Given the description of an element on the screen output the (x, y) to click on. 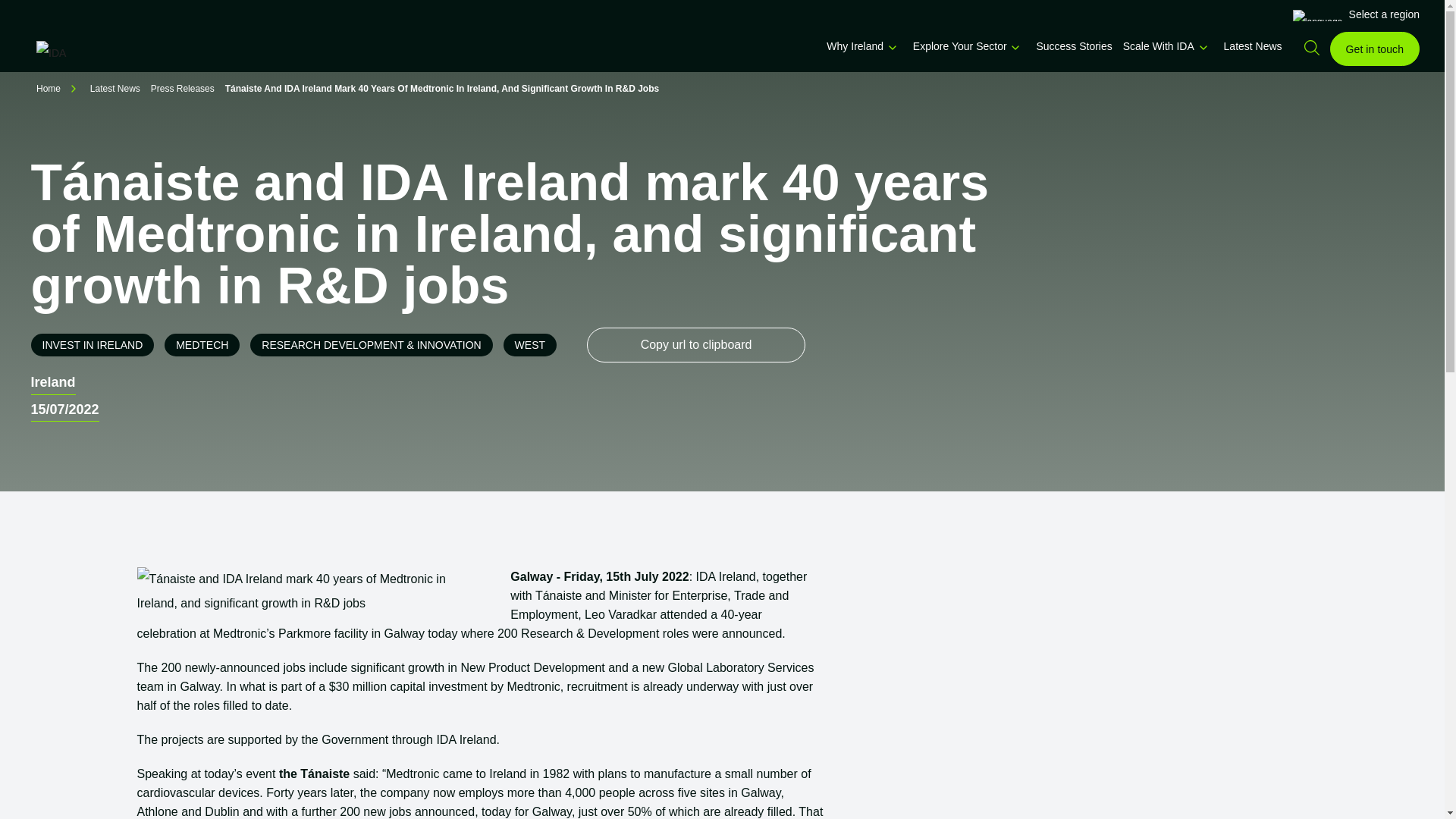
Latest News (1253, 46)
Success Stories (1073, 46)
A short title of the SVG (892, 47)
Get in touch (1374, 48)
Scale With IDA (1157, 46)
A short title of the SVG (1015, 47)
Why Ireland (855, 46)
Explore Your Sector (959, 46)
A short title of the SVG (1202, 47)
